Given the description of an element on the screen output the (x, y) to click on. 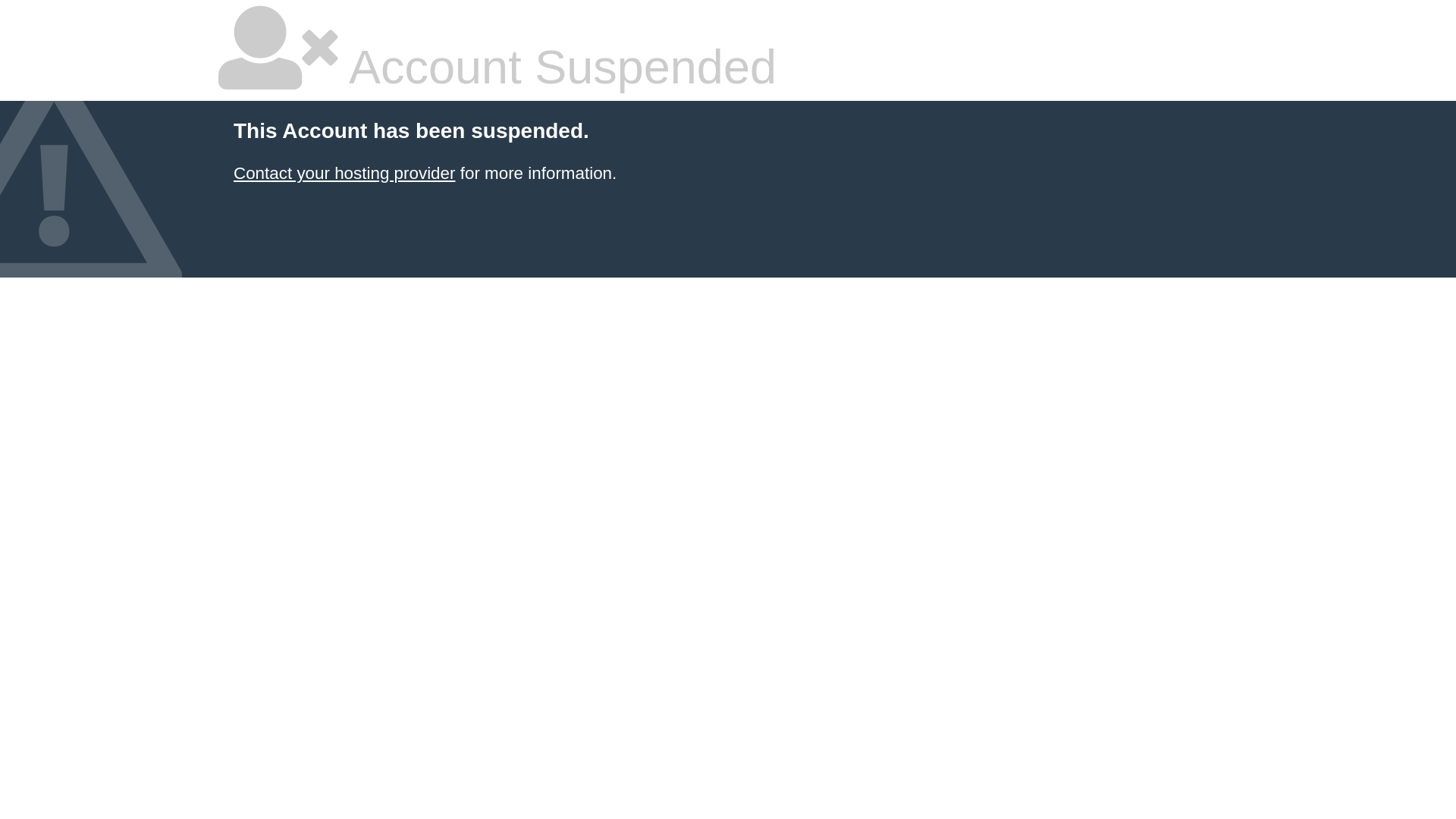
Contact your hosting provider Element type: text (344, 172)
